Given the description of an element on the screen output the (x, y) to click on. 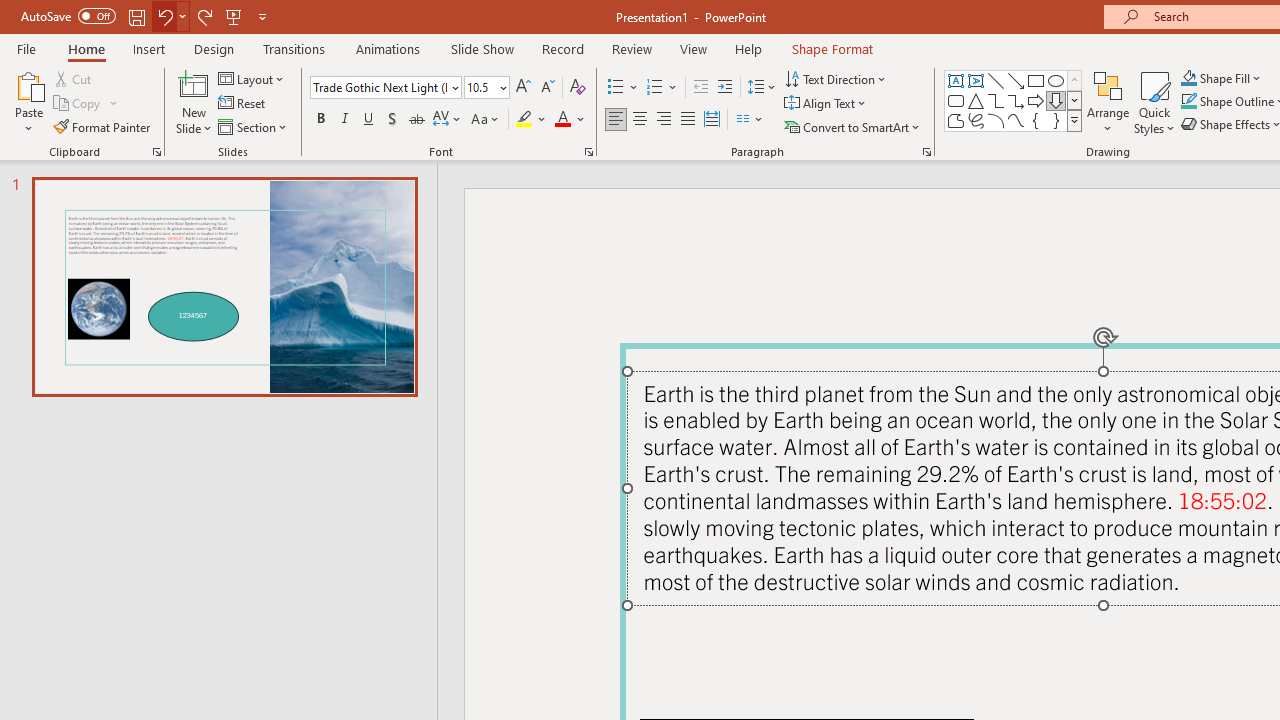
Shape Fill Aqua, Accent 2 (1188, 78)
